Given the description of an element on the screen output the (x, y) to click on. 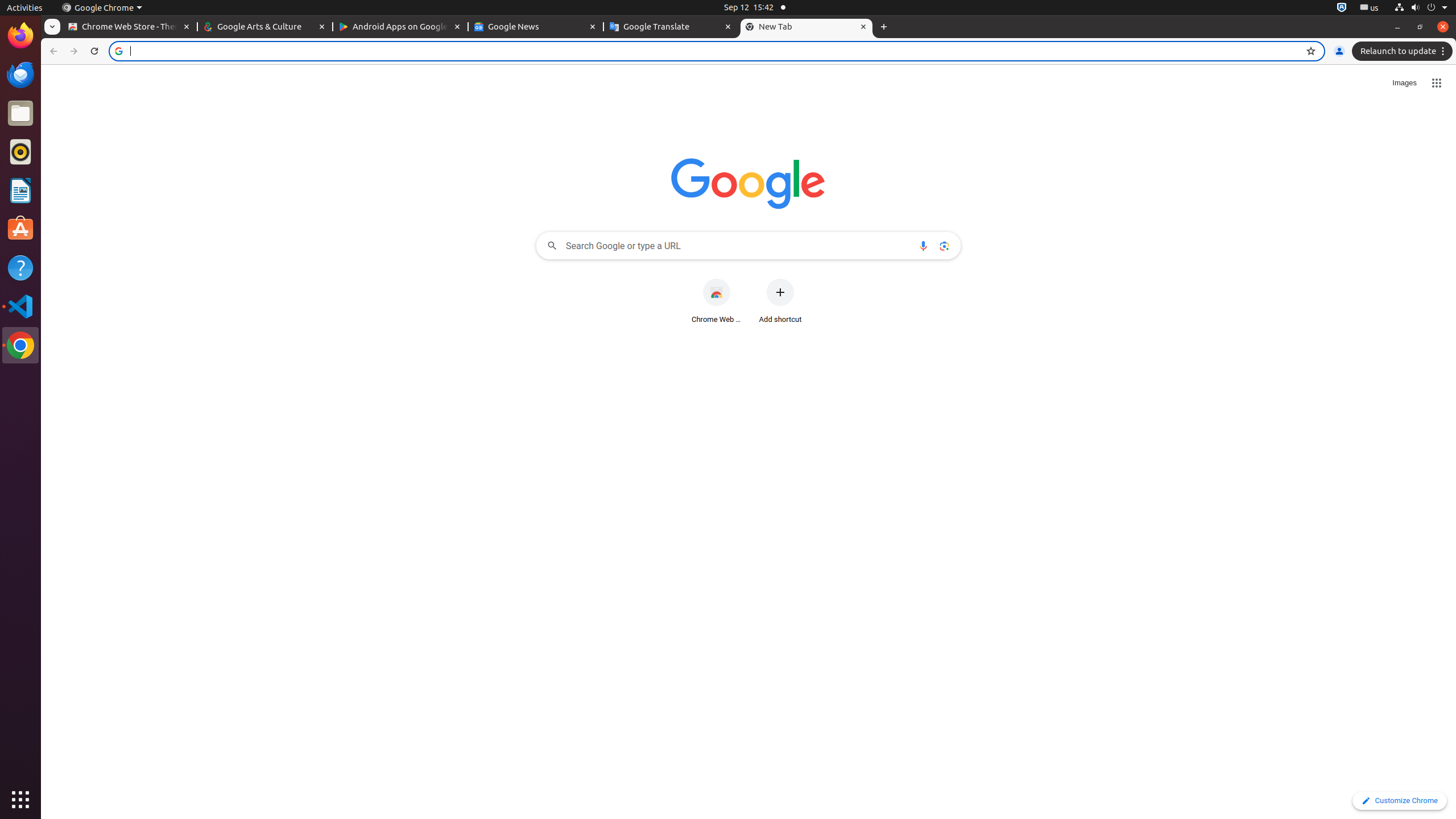
Back Element type: push-button (51, 50)
Forward Element type: push-button (73, 50)
Chrome Web Store Element type: link (716, 301)
New Tab Element type: push-button (883, 26)
Show Applications Element type: toggle-button (20, 799)
